Given the description of an element on the screen output the (x, y) to click on. 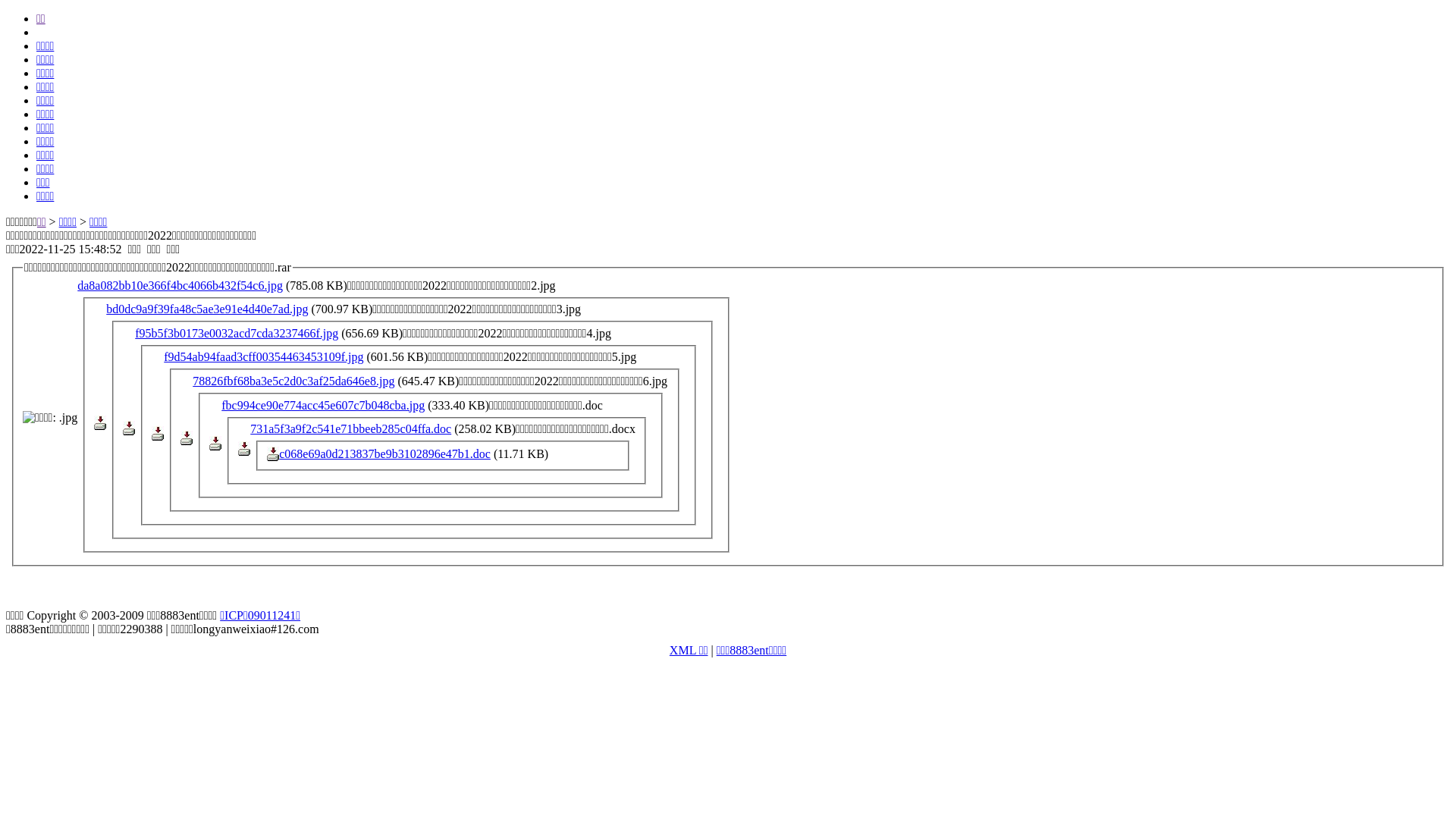
bd0dc9a9f39fa48c5ae3e91e4d40e7ad.jpg Element type: text (206, 308)
f9d54ab94faad3cff00354463453109f.jpg Element type: text (263, 356)
c068e69a0d213837be9b3102896e47b1.doc Element type: text (384, 453)
731a5f3a9f2c541e71bbeeb285c04ffa.doc Element type: text (350, 428)
da8a082bb10e366f4bc4066b432f54c6.jpg Element type: text (179, 285)
f95b5f3b0173e0032acd7cda3237466f.jpg Element type: text (236, 332)
78826fbf68ba3e5c2d0c3af25da646e8.jpg Element type: text (293, 380)
fbc994ce90e774acc45e607c7b048cba.jpg Element type: text (322, 404)
